Given the description of an element on the screen output the (x, y) to click on. 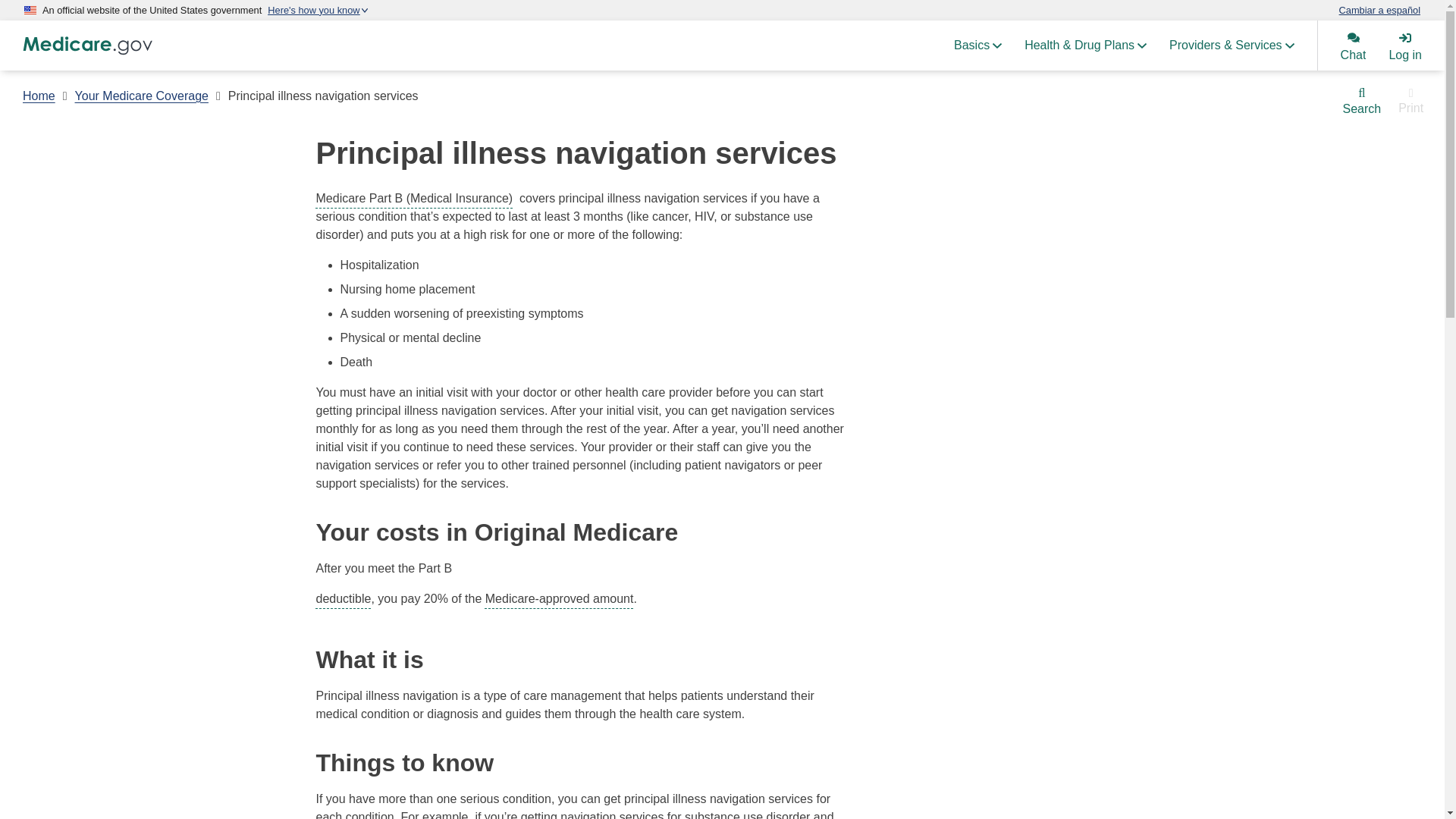
Here's how you know (317, 9)
Chat (1353, 45)
Search (1362, 102)
deductible (343, 598)
Basics (977, 45)
Medicare-approved amount (558, 598)
Home (39, 95)
Your Medicare Coverage (141, 95)
Log in (1404, 45)
